Given the description of an element on the screen output the (x, y) to click on. 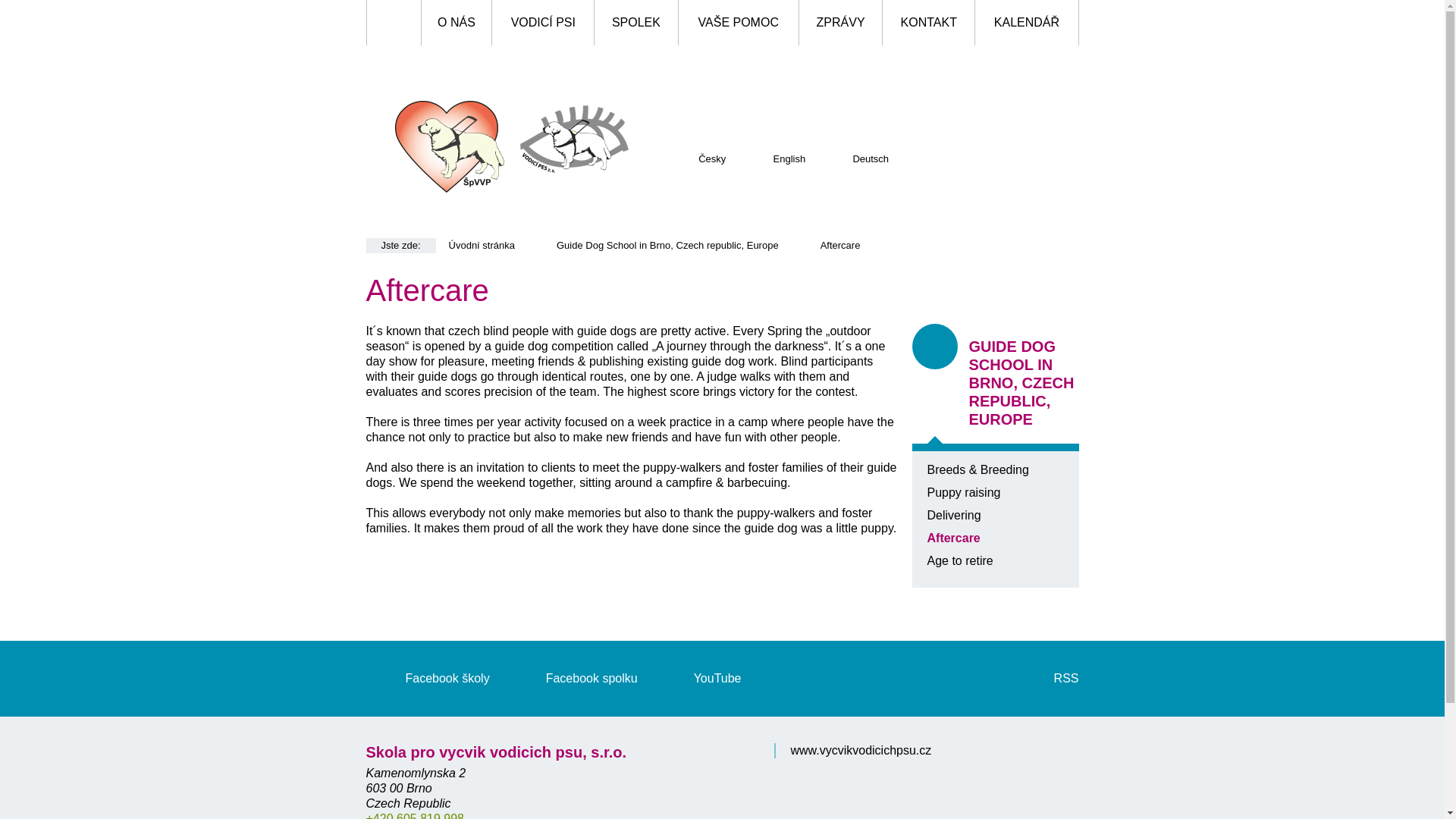
RSS (1046, 678)
YouTube (697, 678)
Puppy raising (963, 492)
Deutsch (856, 157)
English (774, 157)
Delivering (952, 514)
SPOLEK (635, 22)
Age to retire (959, 560)
KONTAKT (928, 22)
Guide Dog School in Brno, Czech republic, Europe (667, 244)
